Given the description of an element on the screen output the (x, y) to click on. 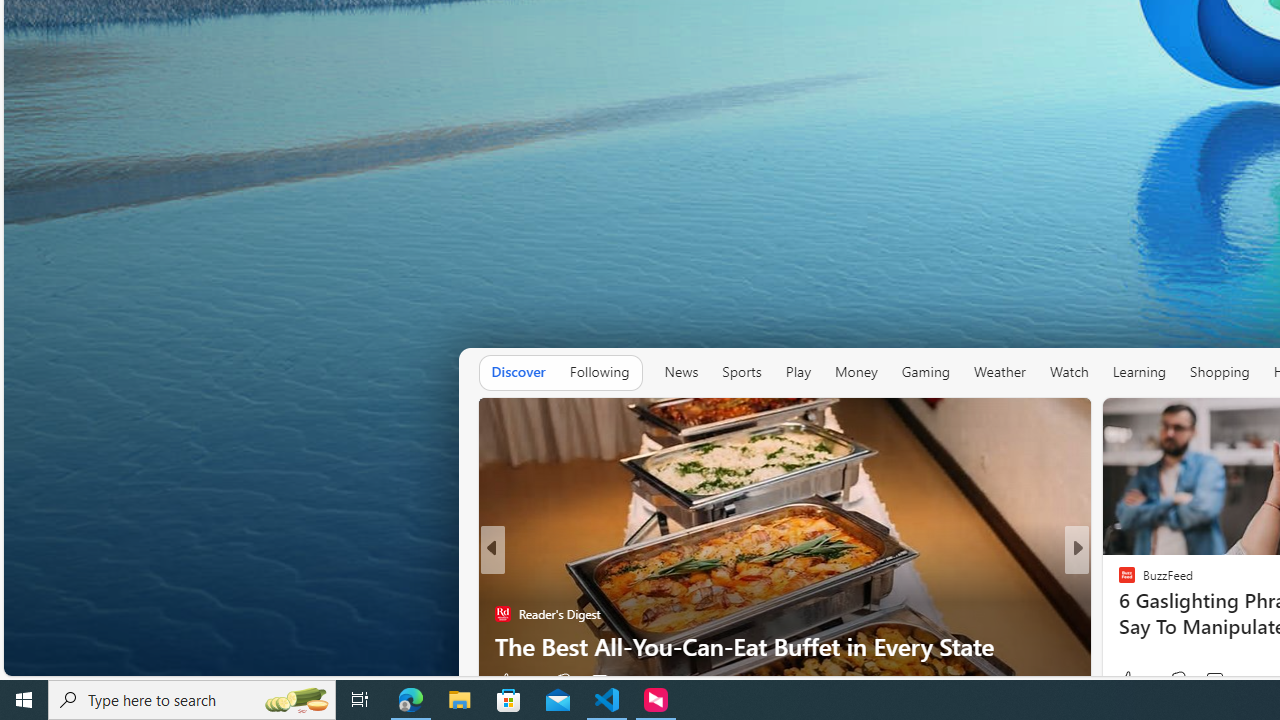
Gaming (925, 371)
Vox.com (1117, 581)
Following (599, 372)
Martha Stewart Living (1117, 614)
Shopping (1219, 372)
Money (855, 372)
Type here to search (191, 699)
Visual Studio Code - 1 running window (607, 699)
Fox Business (1117, 581)
Gaming (925, 372)
Sports (741, 371)
Weather (999, 371)
DNC TV Ratings Compared to the RNC (784, 645)
Savvy Dime (1117, 581)
CNBC (1117, 581)
